Given the description of an element on the screen output the (x, y) to click on. 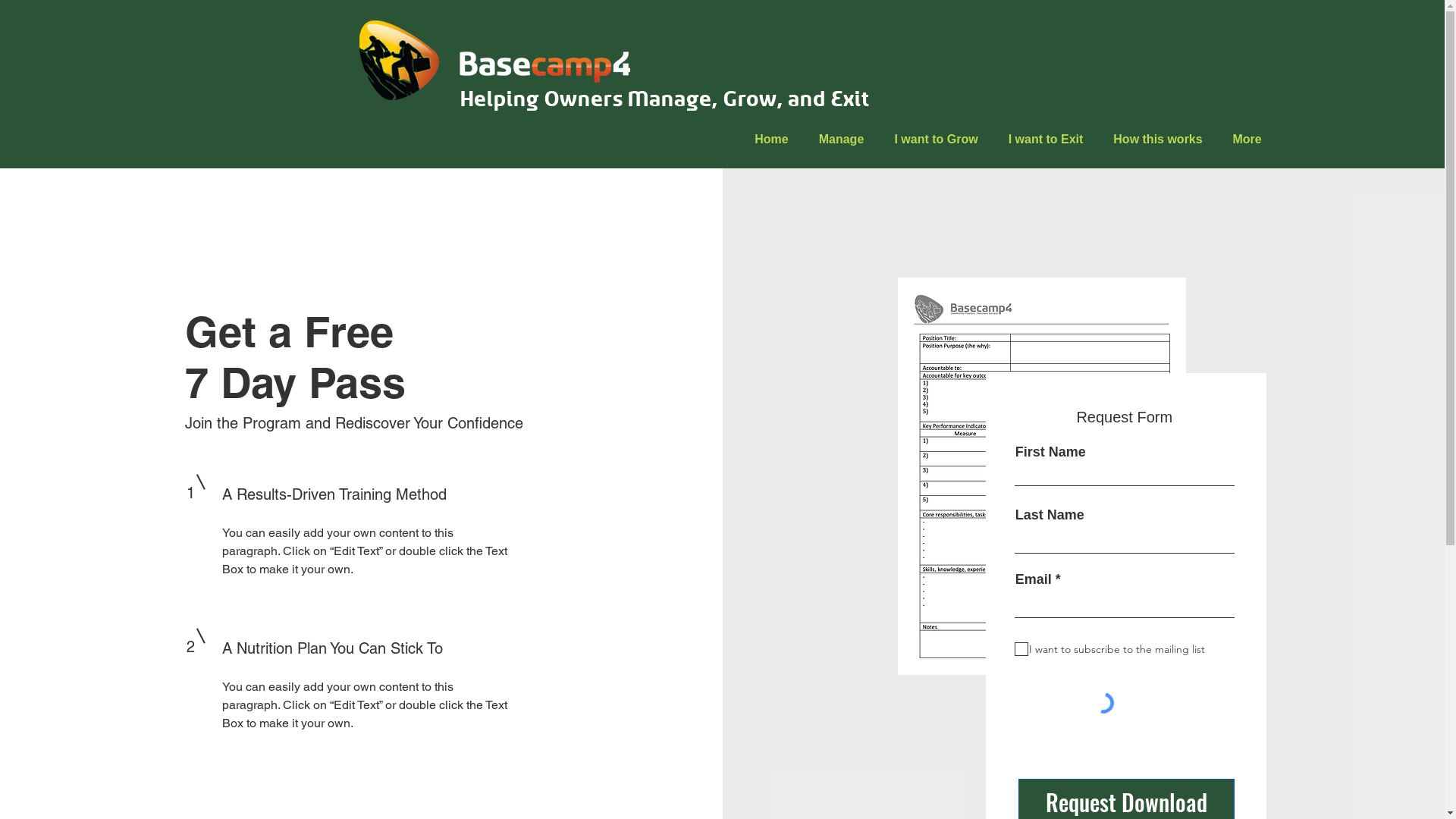
Manage Element type: text (841, 139)
I want to Grow Element type: text (936, 139)
Home Element type: text (771, 139)
How this works Element type: text (1157, 139)
I want to Exit Element type: text (1045, 139)
